Given the description of an element on the screen output the (x, y) to click on. 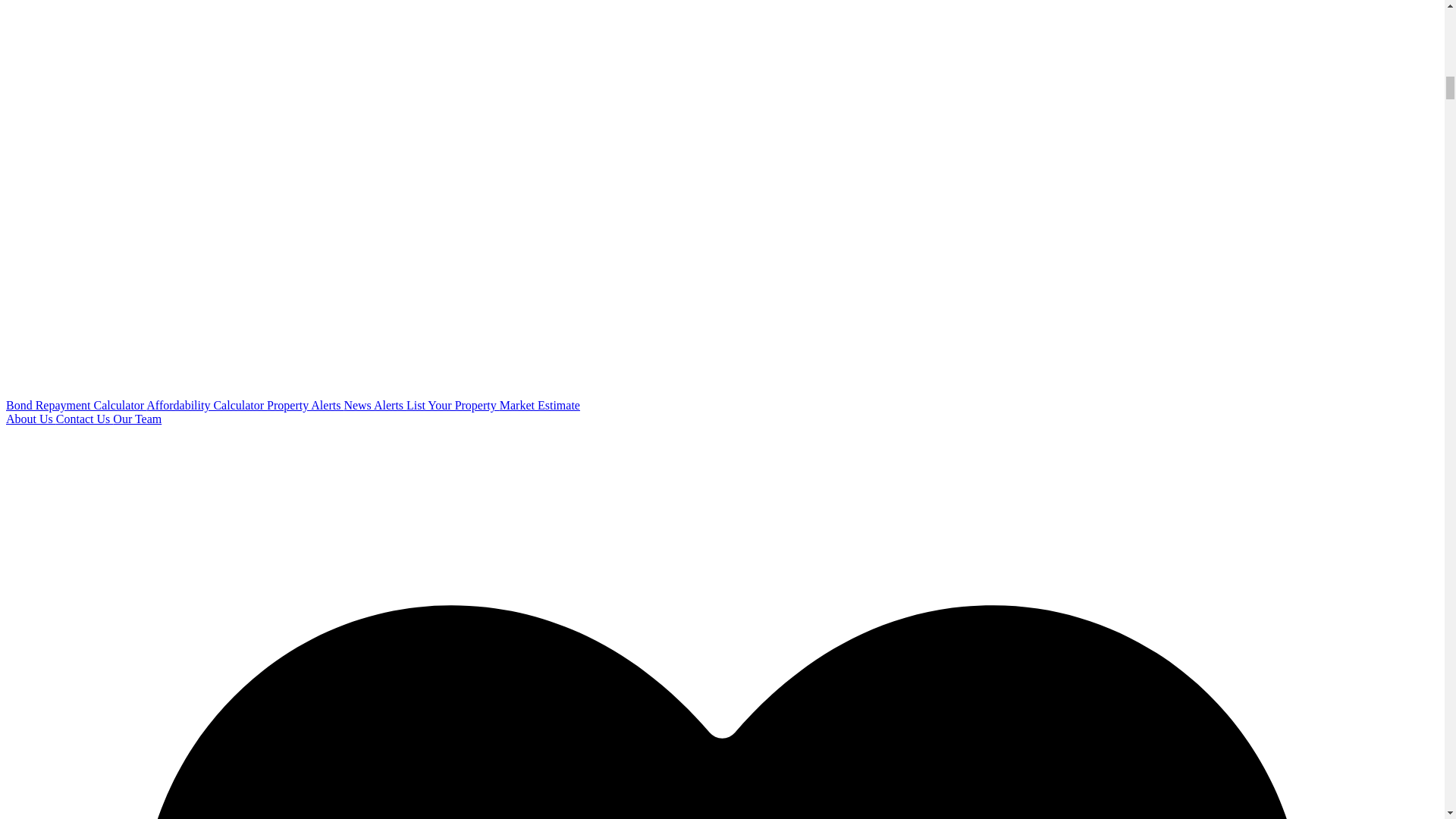
Bond Repayment Calculator (76, 404)
About Us (30, 418)
Our Team (137, 418)
Property Alerts (304, 404)
Affordability Calculator (206, 404)
Market Estimate (539, 404)
List Your Property (452, 404)
News Alerts (374, 404)
Contact Us (84, 418)
